Given the description of an element on the screen output the (x, y) to click on. 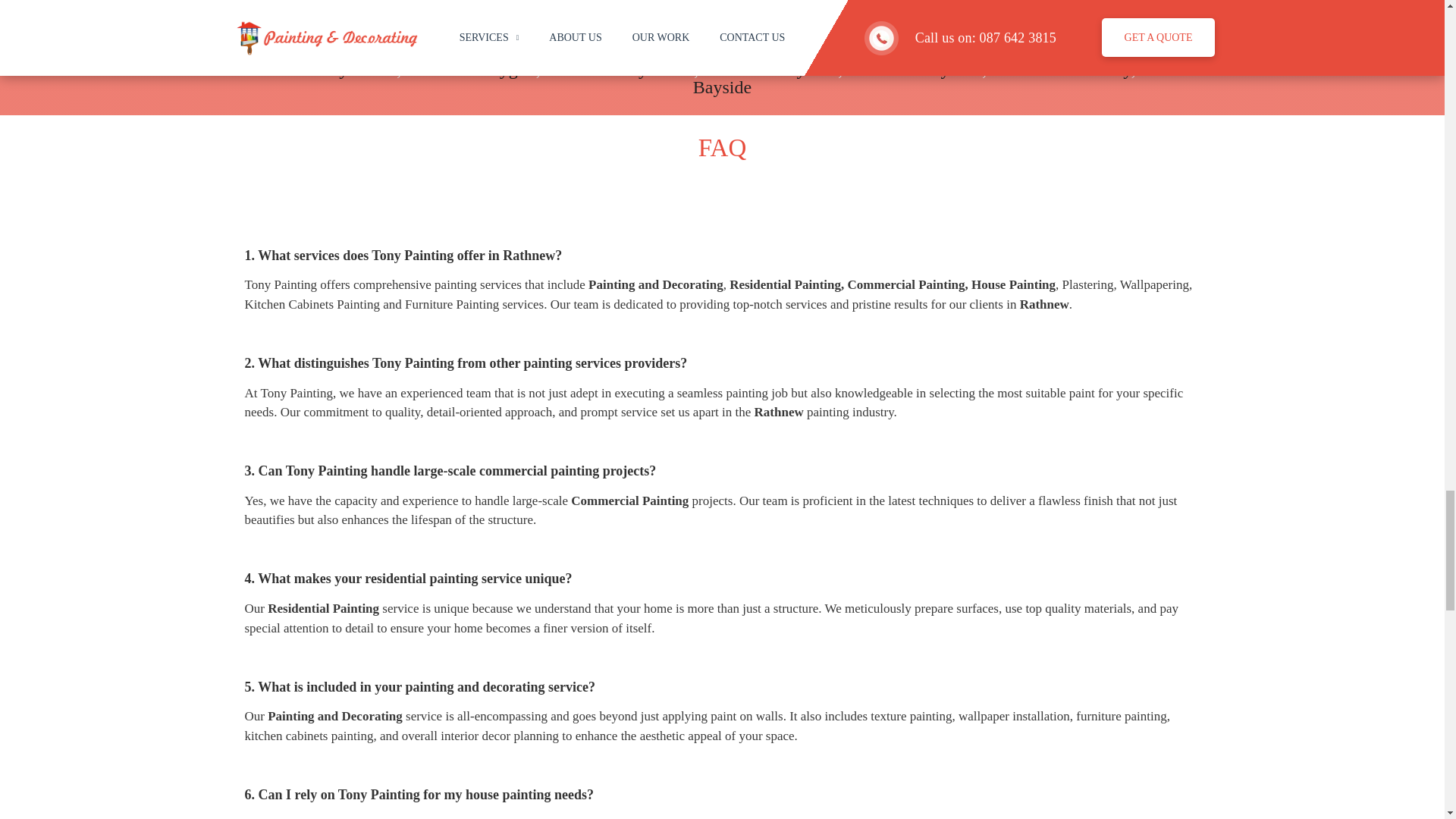
Painters Baldoyle (1123, 32)
Painters Meath (425, 32)
Painters Ballyboden (786, 50)
Painters Balgriffin (336, 50)
Painters Artane (703, 32)
Painters Adamstown (564, 32)
Painters Balbriggan (977, 32)
Painters Ballybrack (941, 50)
Painters Ballinteer (480, 50)
Painters Fingal (306, 32)
